Given the description of an element on the screen output the (x, y) to click on. 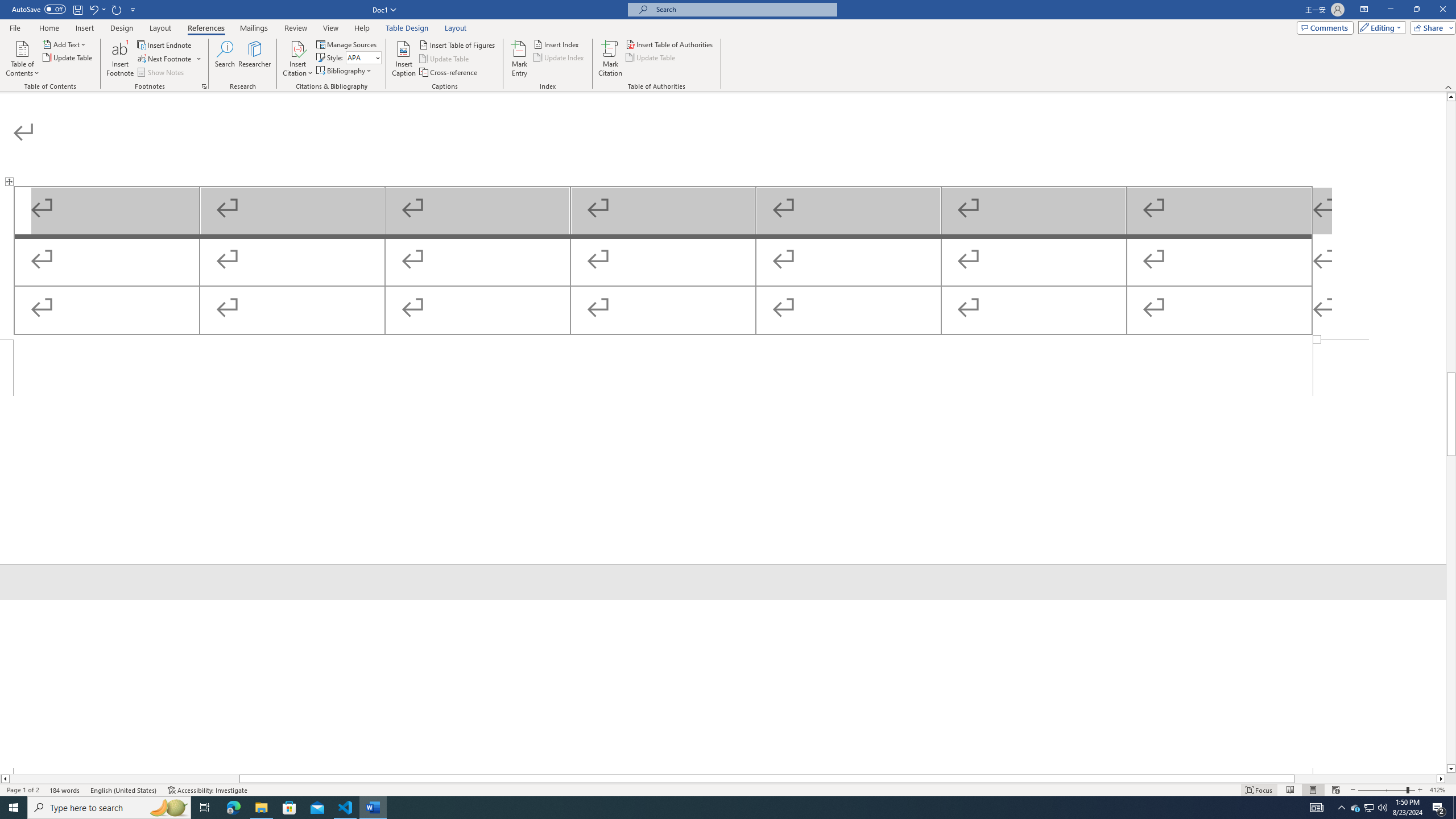
Insert Caption... (403, 58)
Mark Entry... (519, 58)
Researcher (254, 58)
Page 1 content (722, 215)
